Given the description of an element on the screen output the (x, y) to click on. 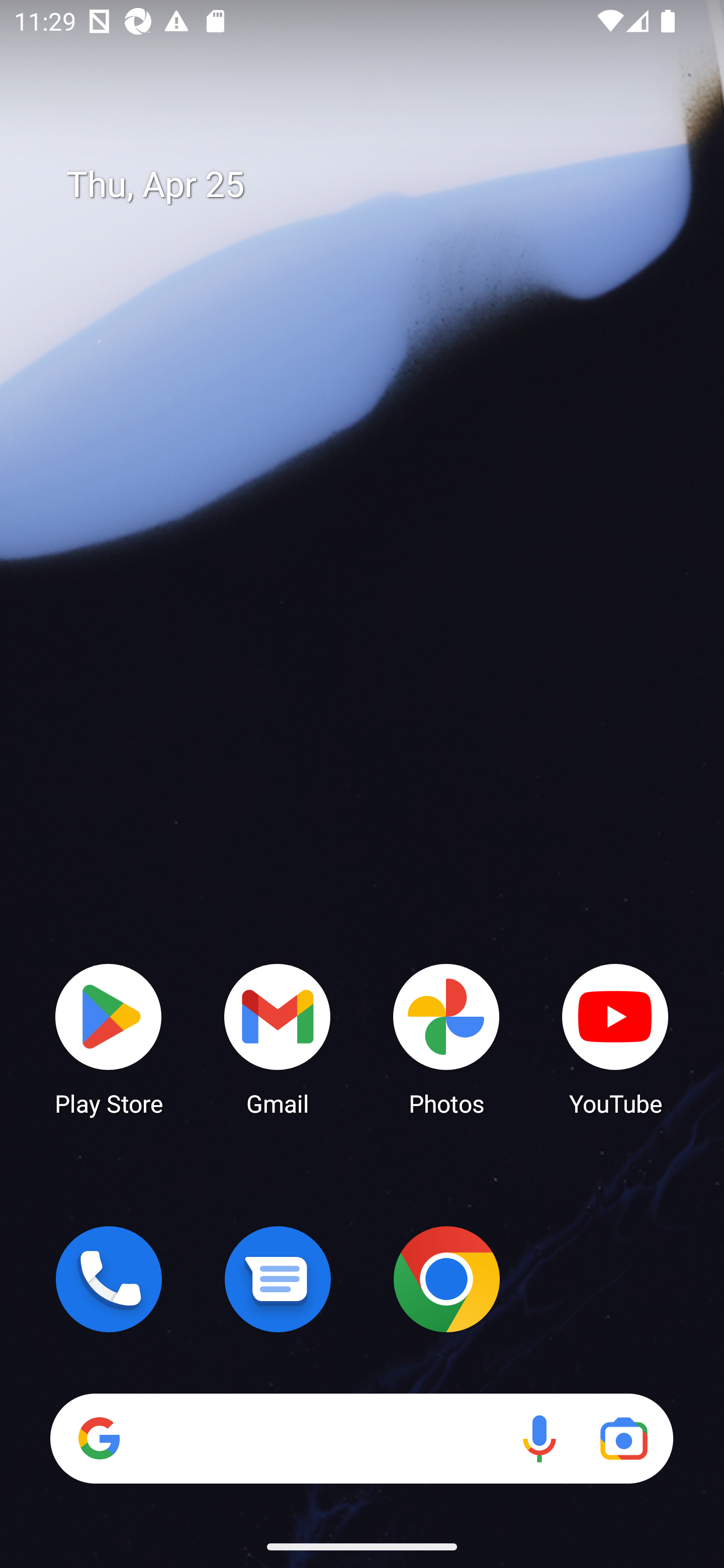
Thu, Apr 25 (375, 184)
Play Store (108, 1038)
Gmail (277, 1038)
Photos (445, 1038)
YouTube (615, 1038)
Phone (108, 1279)
Messages (277, 1279)
Chrome (446, 1279)
Search Voice search Google Lens (361, 1438)
Voice search (539, 1438)
Google Lens (623, 1438)
